Given the description of an element on the screen output the (x, y) to click on. 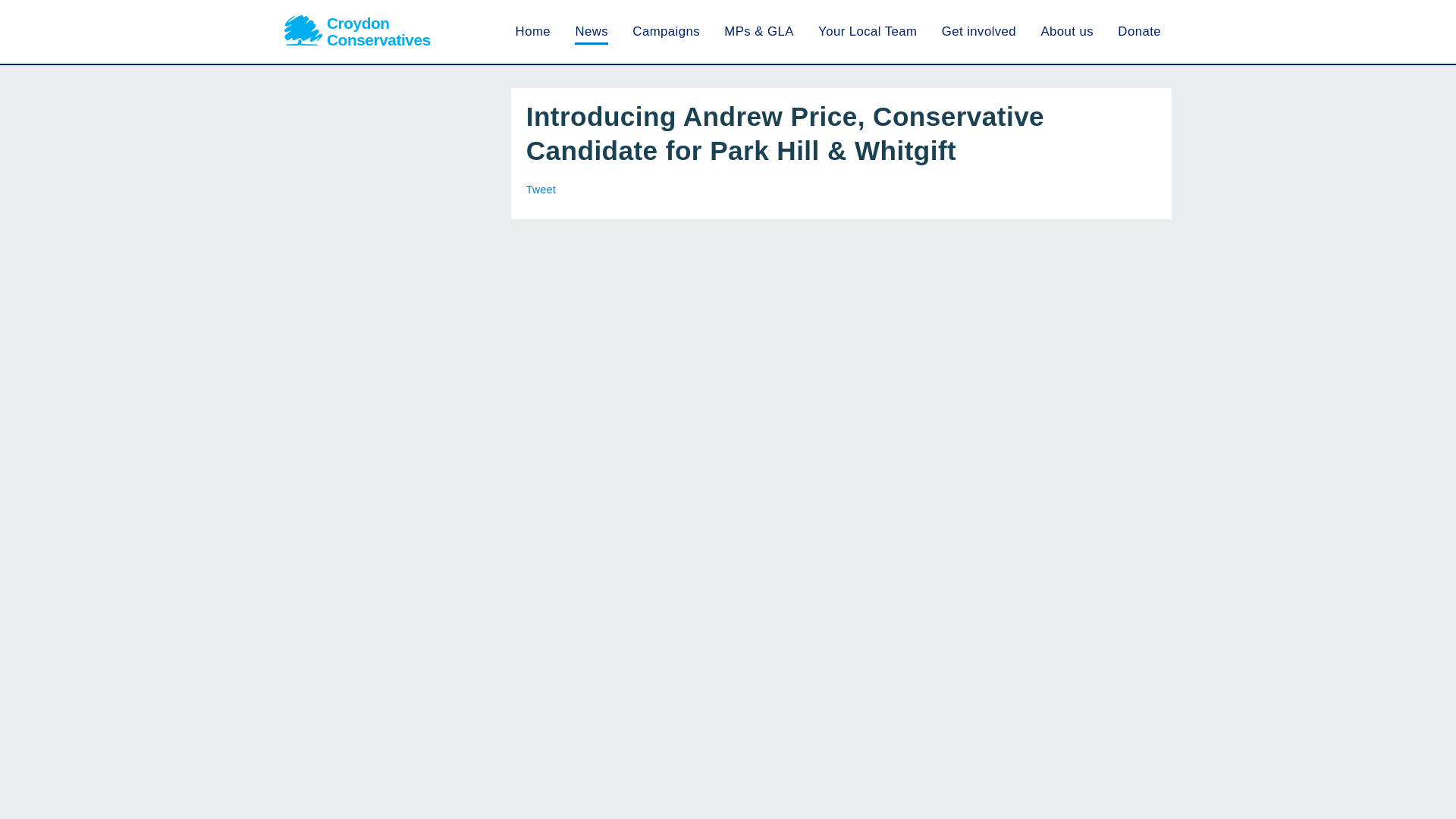
Get involved (356, 31)
Tweet (979, 31)
Skip to main content (540, 189)
News (1067, 31)
Campaigns (591, 31)
Your Local Team (665, 31)
Home (867, 31)
Donate (532, 31)
